Given the description of an element on the screen output the (x, y) to click on. 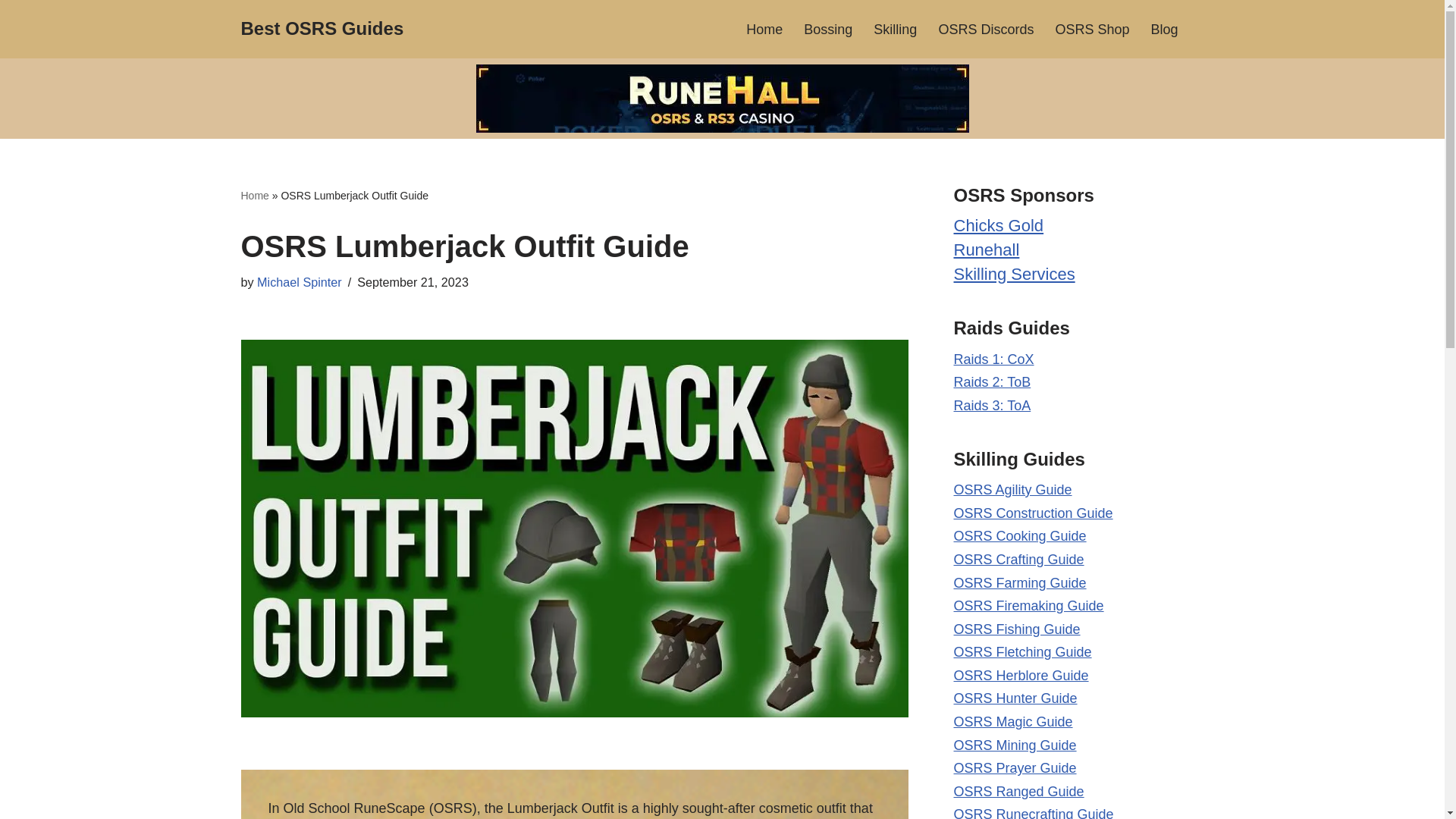
Michael Spinter (299, 282)
Blog (1163, 29)
Bossing (827, 29)
OSRS Magic Guide (1013, 721)
OSRS Farming Guide (1019, 582)
Home (255, 195)
Raids 1: CoX (993, 359)
OSRS Fishing Guide (1016, 629)
OSRS Hunter Guide (1015, 698)
OSRS Construction Guide (1033, 513)
Skilling Services (1014, 273)
Skilling (895, 29)
OSRS Agility Guide (1012, 489)
Best OSRS Guides (322, 29)
OSRS Fletching Guide (1022, 652)
